Given the description of an element on the screen output the (x, y) to click on. 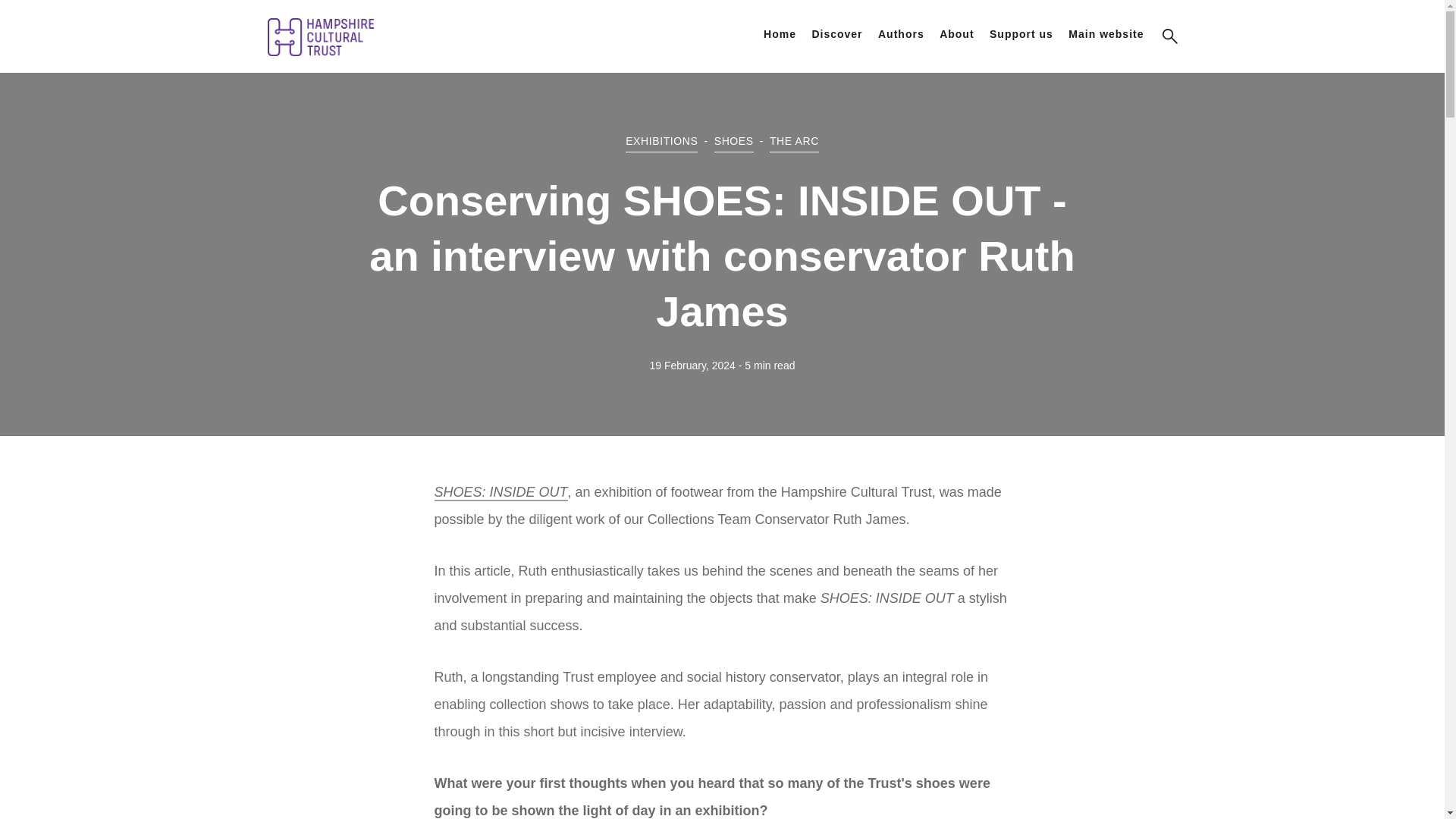
THE ARC (794, 141)
Main website (1105, 33)
Authors (900, 33)
EXHIBITIONS (661, 141)
SHOES: INSIDE OUT (500, 492)
Support us (1021, 33)
Discover (835, 33)
Home (779, 33)
SHOES (734, 141)
About (956, 33)
